Given the description of an element on the screen output the (x, y) to click on. 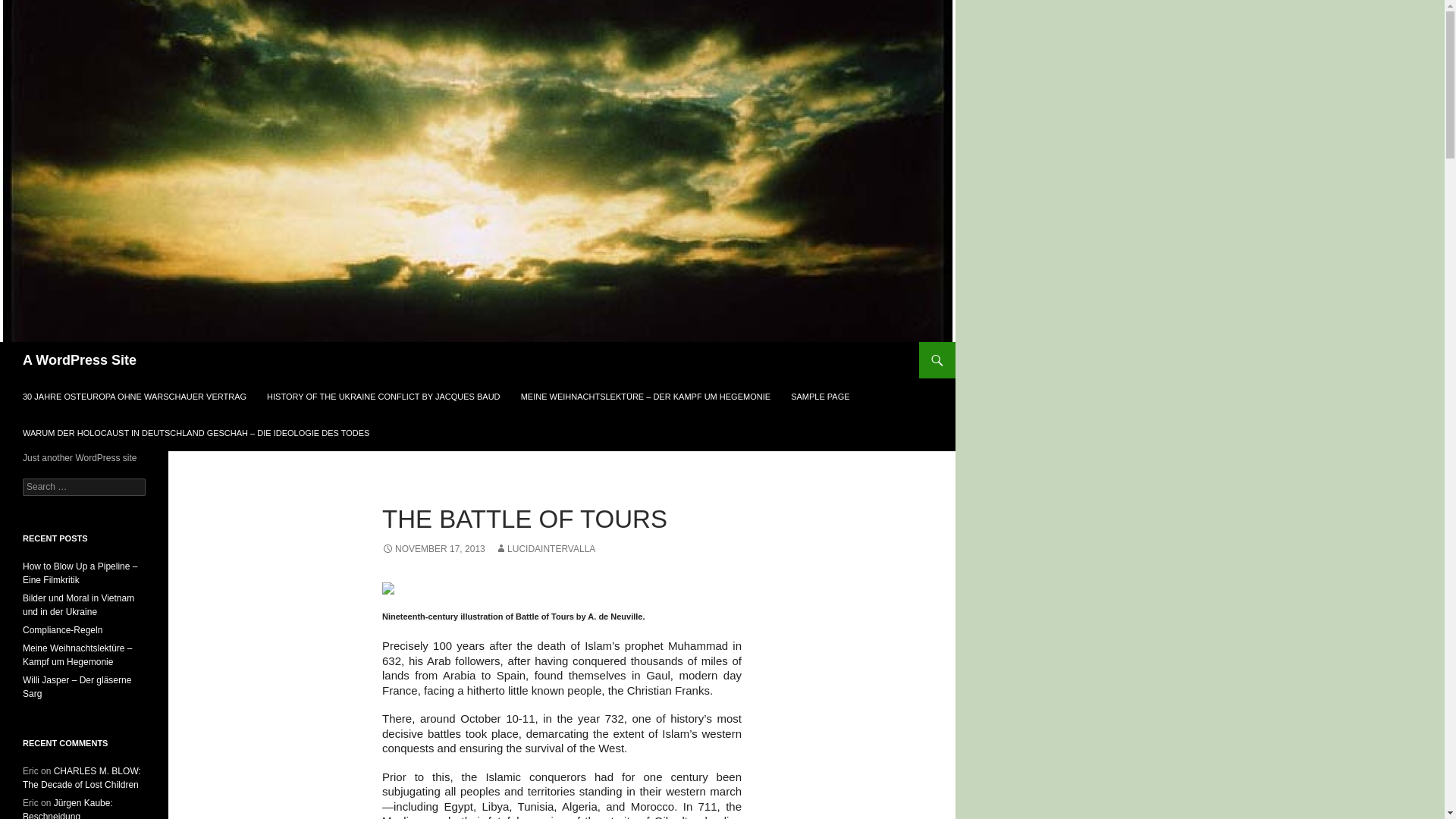
Compliance-Regeln (62, 629)
HISTORY OF THE UKRAINE CONFLICT BY JACQUES BAUD (382, 396)
30 JAHRE OSTEUROPA OHNE WARSCHAUER VERTRAG (134, 396)
A WordPress Site (79, 360)
SAMPLE PAGE (820, 396)
LUCIDAINTERVALLA (545, 548)
Bilder und Moral in Vietnam und in der Ukraine (78, 604)
NOVEMBER 17, 2013 (432, 548)
Search (30, 8)
CHARLES M. BLOW: The Decade of Lost Children (82, 777)
